Given the description of an element on the screen output the (x, y) to click on. 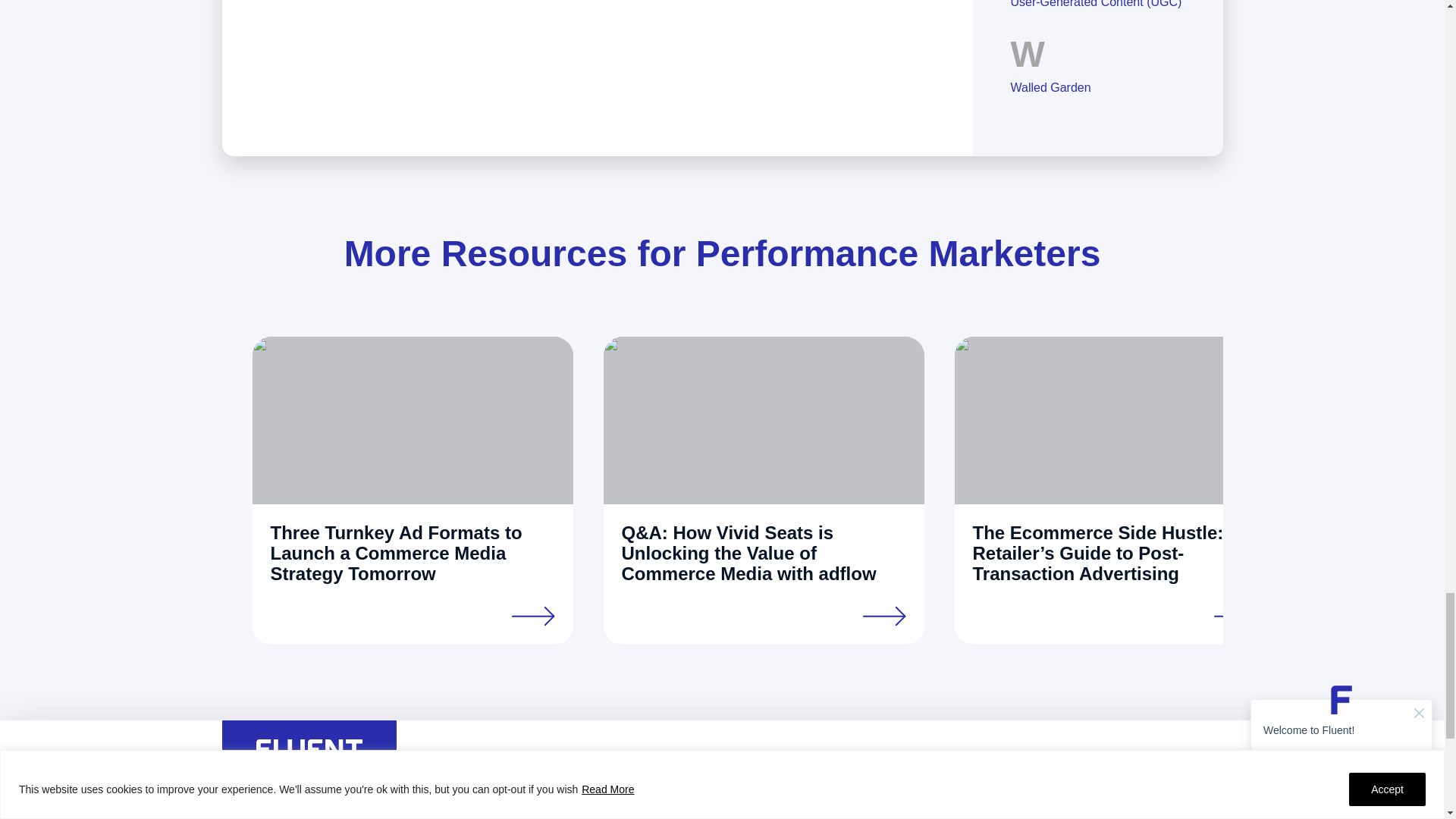
Fluent logo (309, 749)
